Given the description of an element on the screen output the (x, y) to click on. 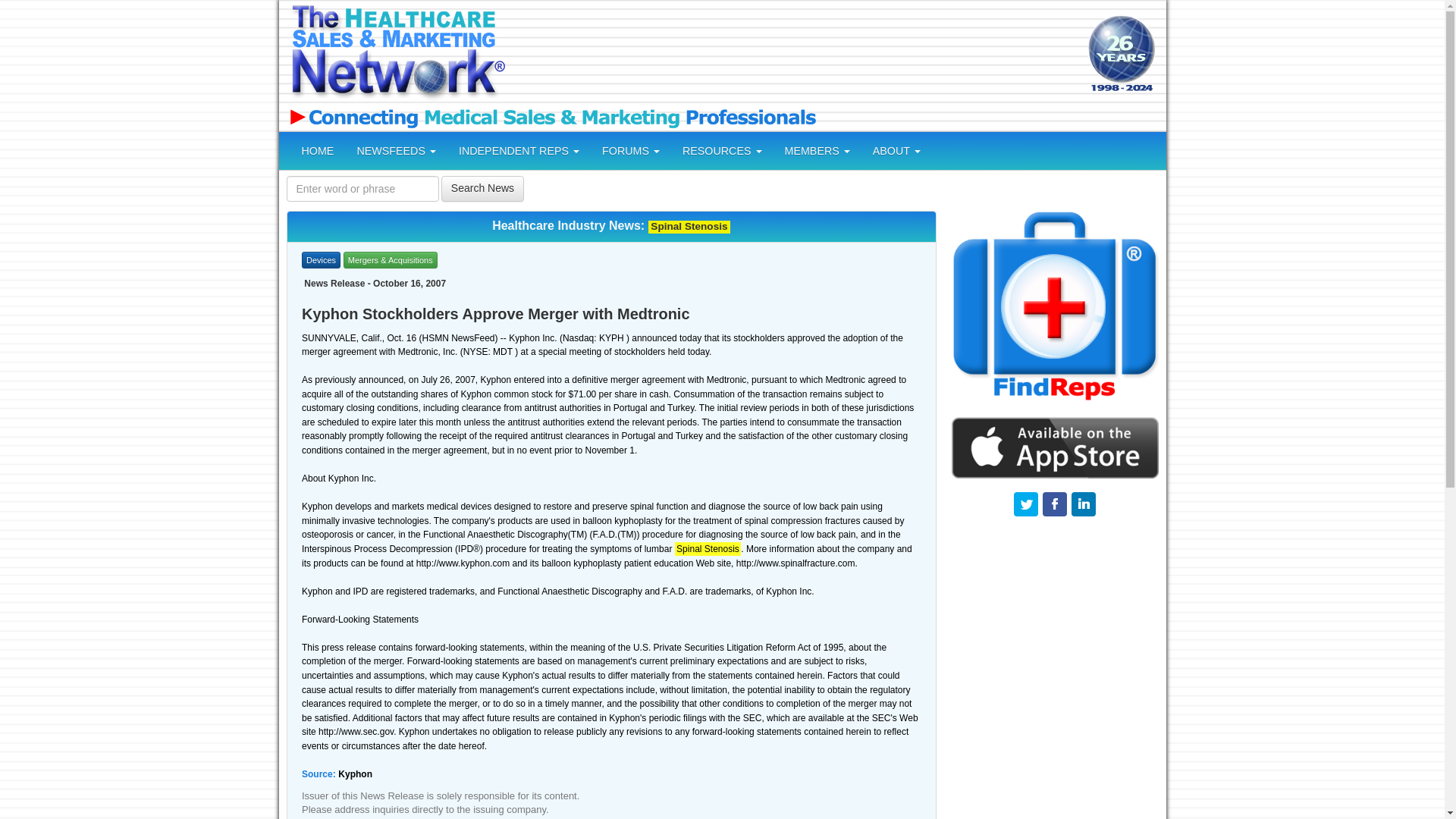
INDEPENDENT REPS  (518, 150)
NEWSFEEDS  (395, 150)
Advertisement (794, 55)
RESOURCES  (722, 150)
Search News (482, 188)
HOME (317, 150)
FORUMS  (631, 150)
